Given the description of an element on the screen output the (x, y) to click on. 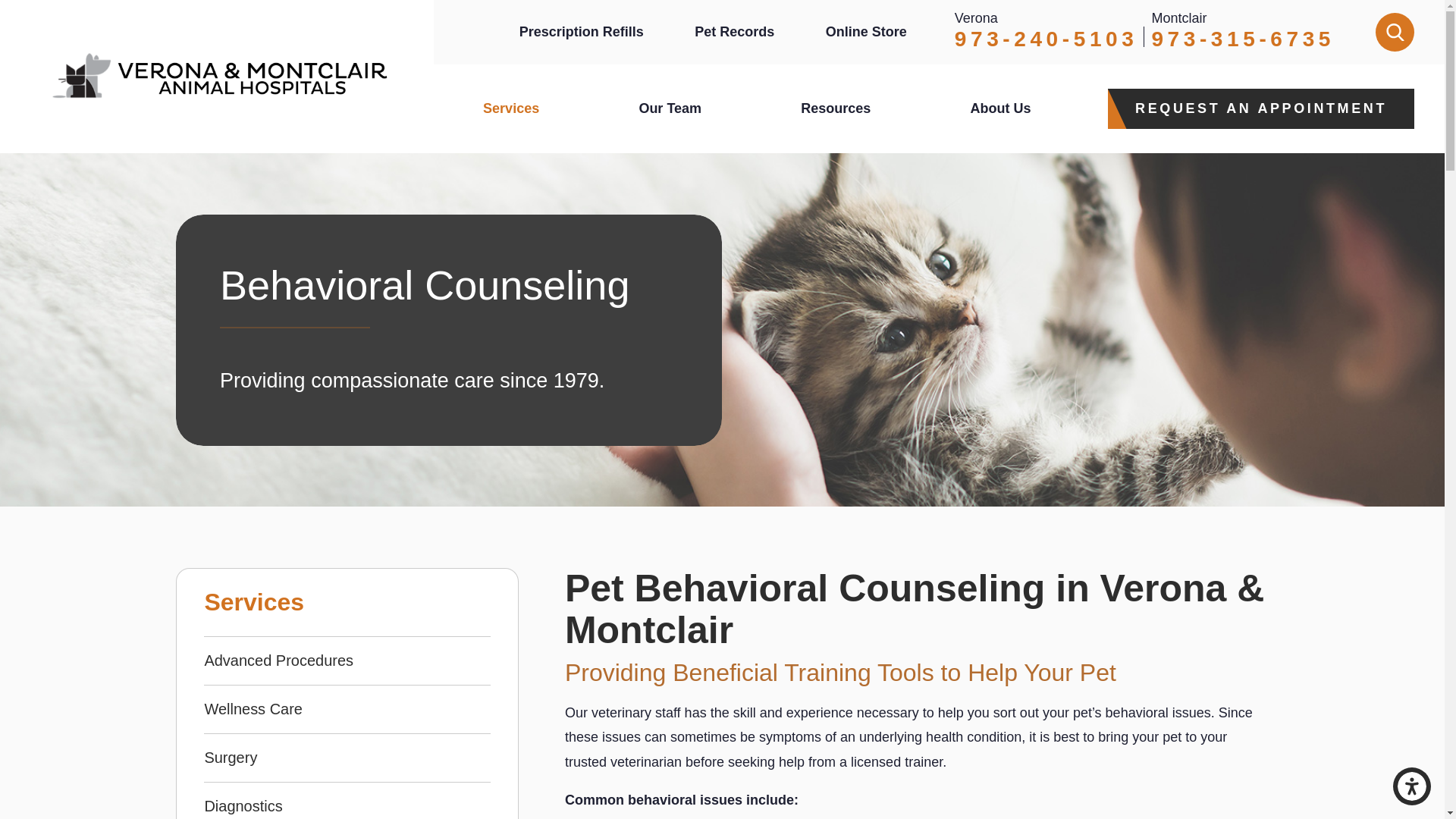
973-315-6735 (1243, 38)
Search Icon (1395, 31)
Online Store (866, 31)
973-240-5103 (1046, 38)
Search Our Site (1394, 32)
Pet Records (734, 31)
Our Team (670, 108)
Open the accessibility options menu (1412, 786)
Services (511, 108)
About Us (1000, 108)
Prescription Refills (581, 31)
Resources (835, 108)
